Given the description of an element on the screen output the (x, y) to click on. 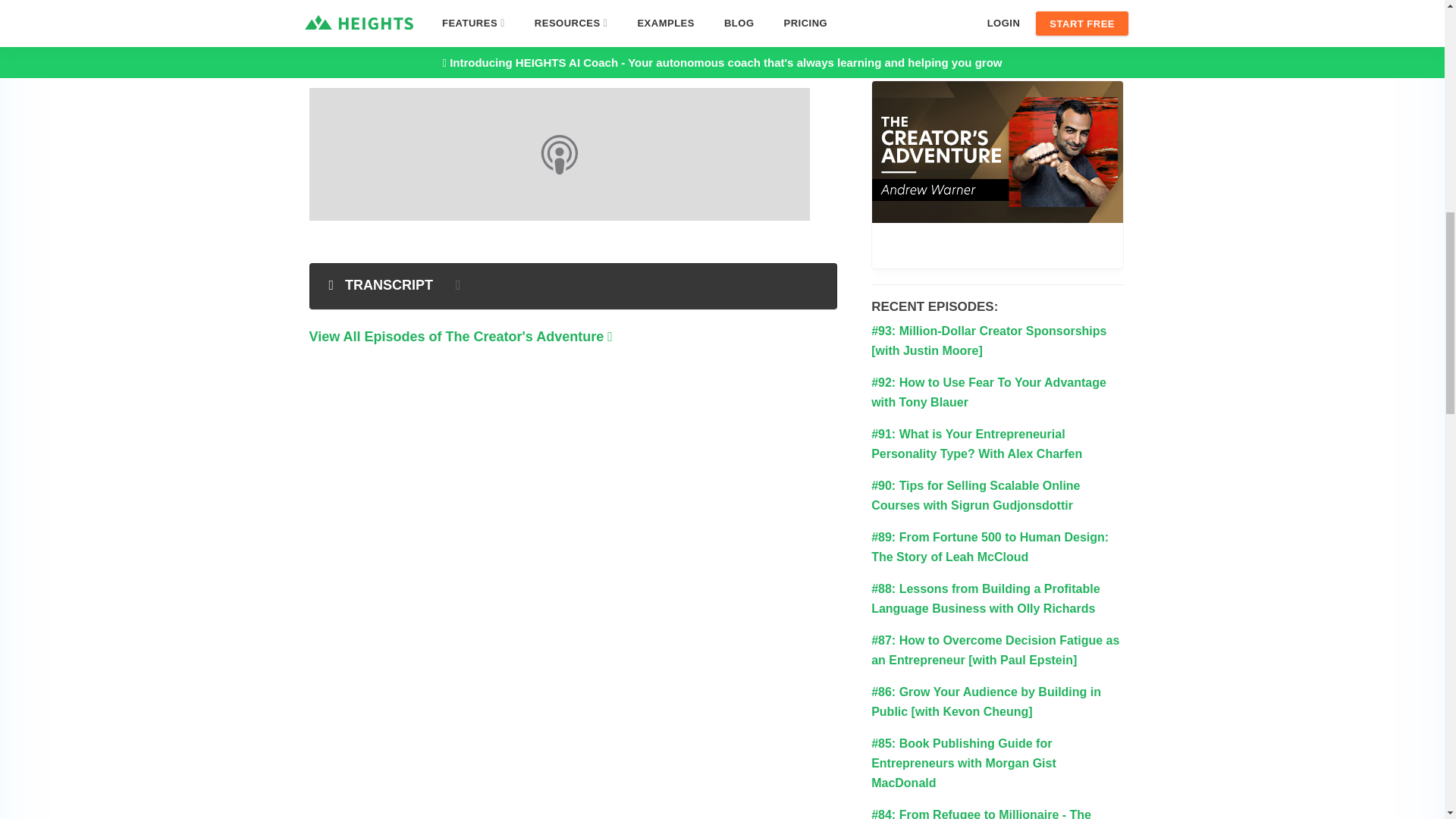
View All Episodes of The Creator's Adventure (460, 336)
The Art of Interviewing with Mixergy Founder Andrew Warner (997, 174)
